Given the description of an element on the screen output the (x, y) to click on. 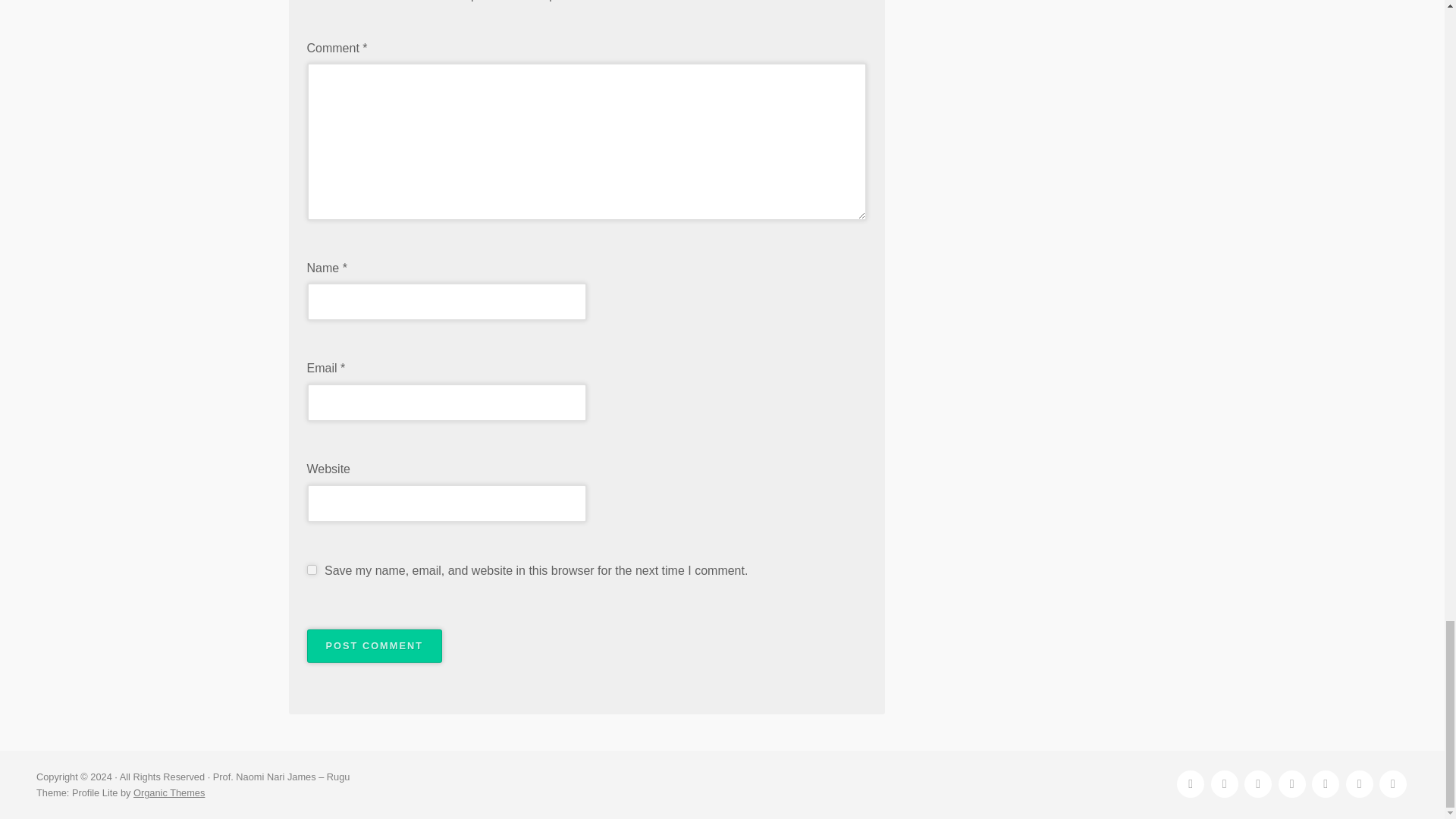
Post Comment (373, 645)
yes (310, 569)
Post Comment (373, 645)
